Given the description of an element on the screen output the (x, y) to click on. 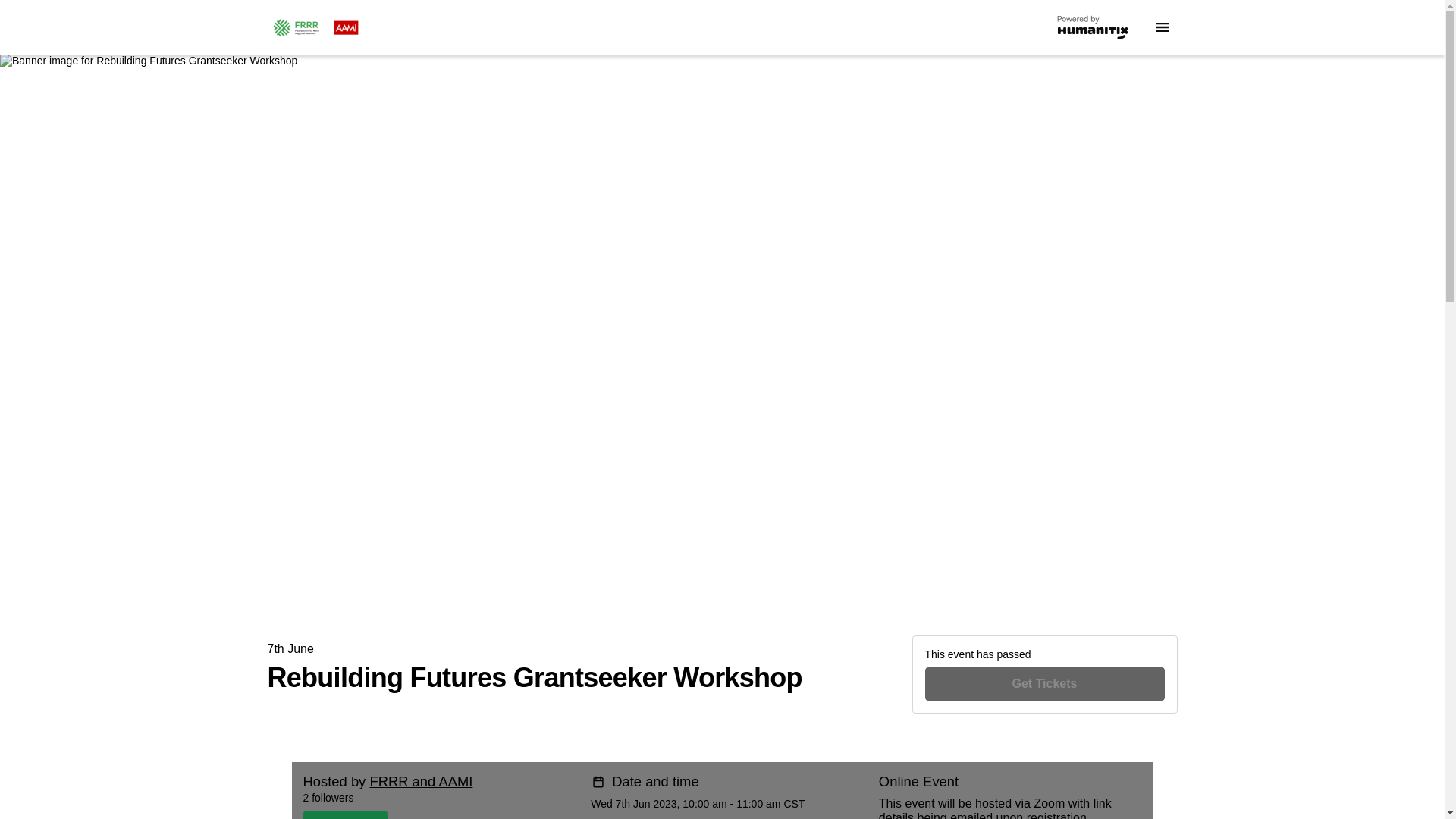
FRRR and AAMI (420, 781)
Follow (417, 814)
Get Tickets (1044, 684)
Skip to Content (18, 18)
